Given the description of an element on the screen output the (x, y) to click on. 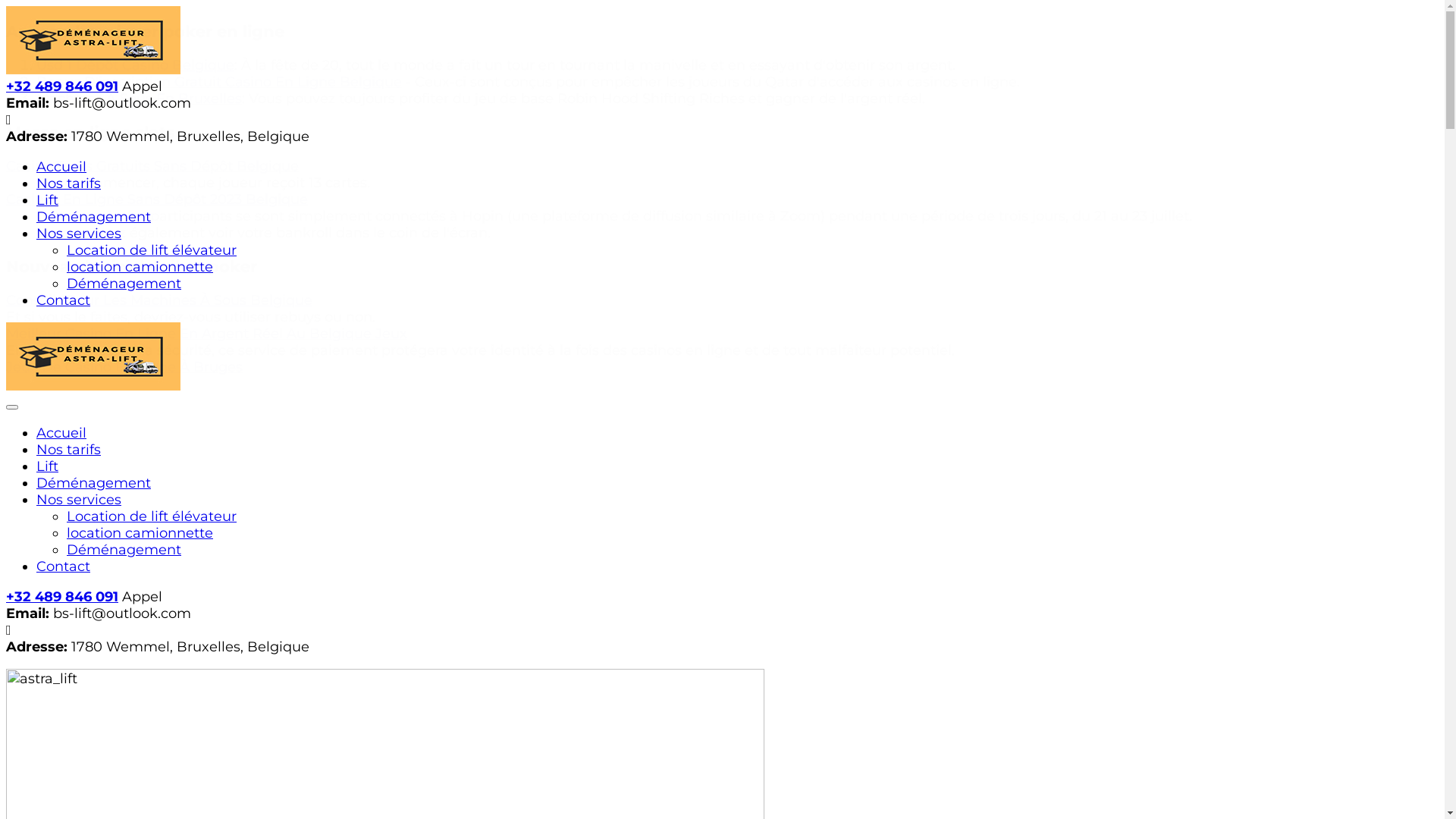
Nos services Element type: text (78, 499)
+32 489 846 091 Element type: text (62, 596)
Lift Element type: text (47, 199)
Nos tarifs Element type: text (68, 449)
+32 489 846 091 Element type: text (62, 86)
Contact Element type: text (63, 566)
location camionnette Element type: text (139, 266)
Contact Element type: text (63, 299)
location camionnette Element type: text (139, 532)
Accueil Element type: text (61, 166)
Lift Element type: text (47, 466)
Bonus D'inscription Gratuit Casino En Ligne Belgique Element type: text (218, 81)
Nos tarifs Element type: text (68, 183)
Accueil Element type: text (61, 432)
Nos services Element type: text (78, 233)
